Given the description of an element on the screen output the (x, y) to click on. 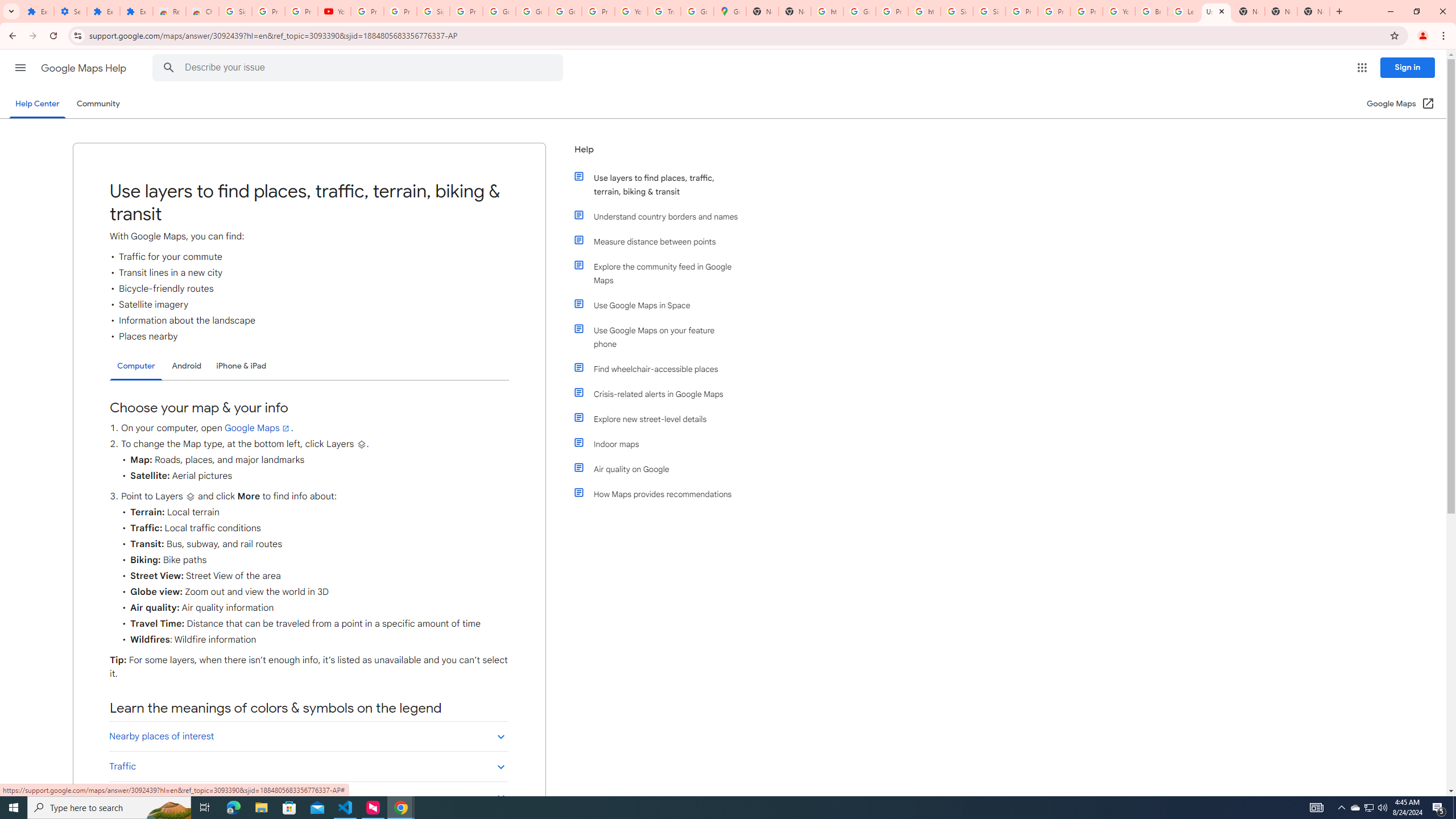
Google Account (499, 11)
Community (97, 103)
New Tab (1313, 11)
Indoor maps (661, 444)
Find wheelchair-accessible places (661, 368)
Traffic (308, 766)
Extensions (103, 11)
